Given the description of an element on the screen output the (x, y) to click on. 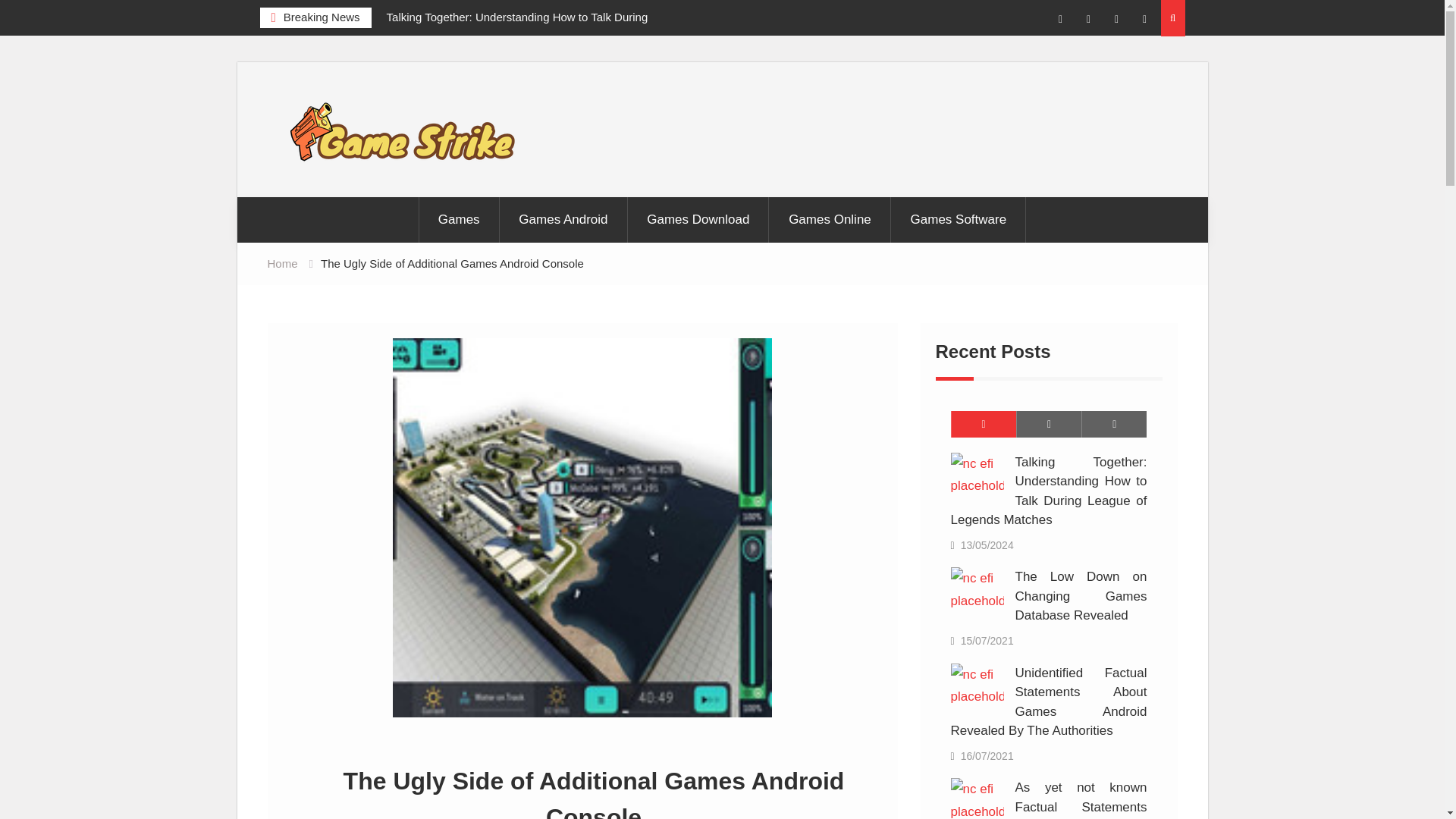
Games Software (958, 219)
Pinterest (1144, 19)
Games Online (830, 219)
Instagram (1088, 19)
Home (281, 263)
Games Android (563, 219)
